Given the description of an element on the screen output the (x, y) to click on. 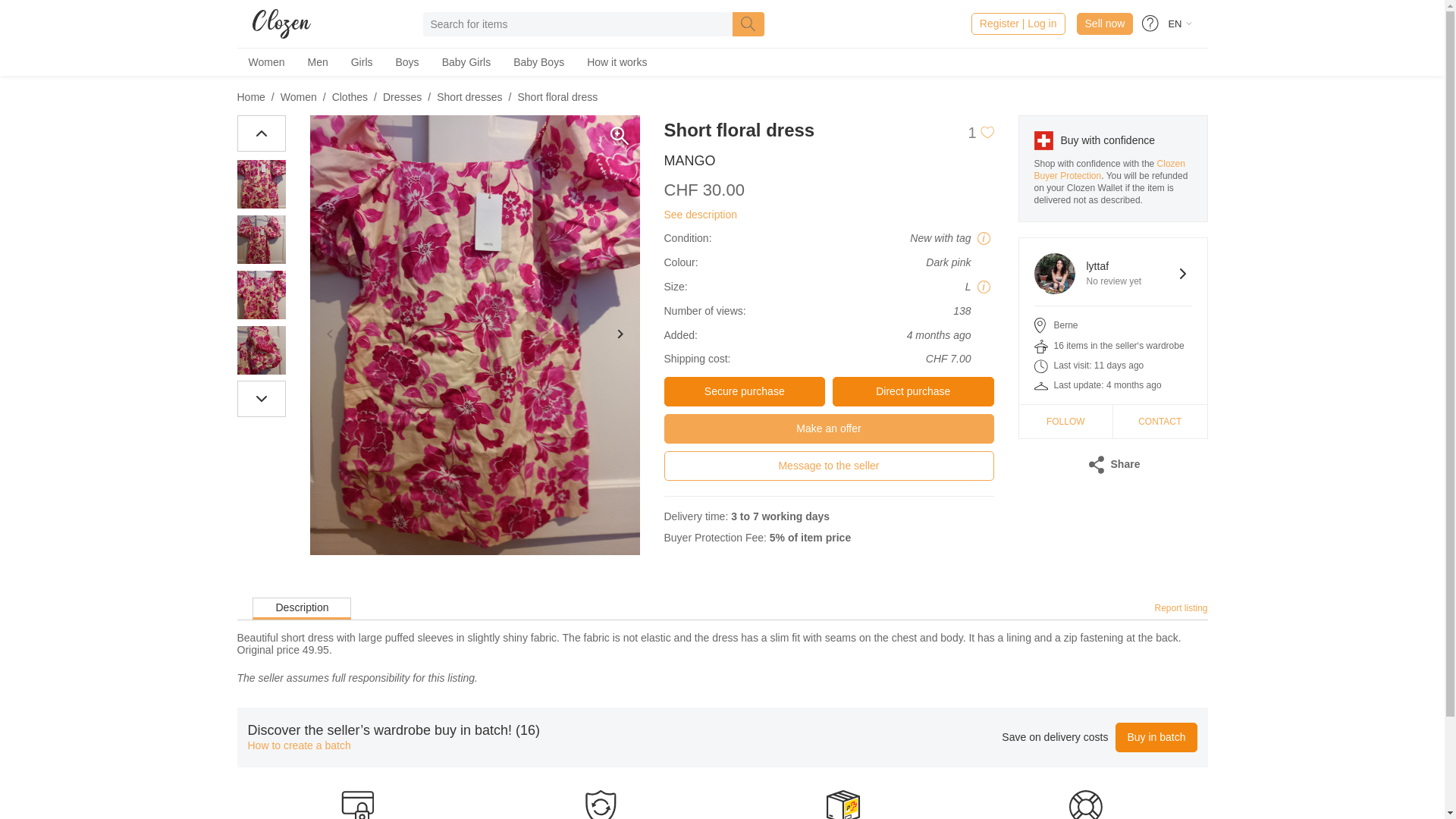
Clothes (349, 97)
Report listing (1180, 607)
Home (249, 97)
How to create a batch (298, 745)
Short dresses (469, 97)
Women (265, 62)
Sell now (1112, 273)
Girls (1104, 23)
Men (361, 62)
